Given the description of an element on the screen output the (x, y) to click on. 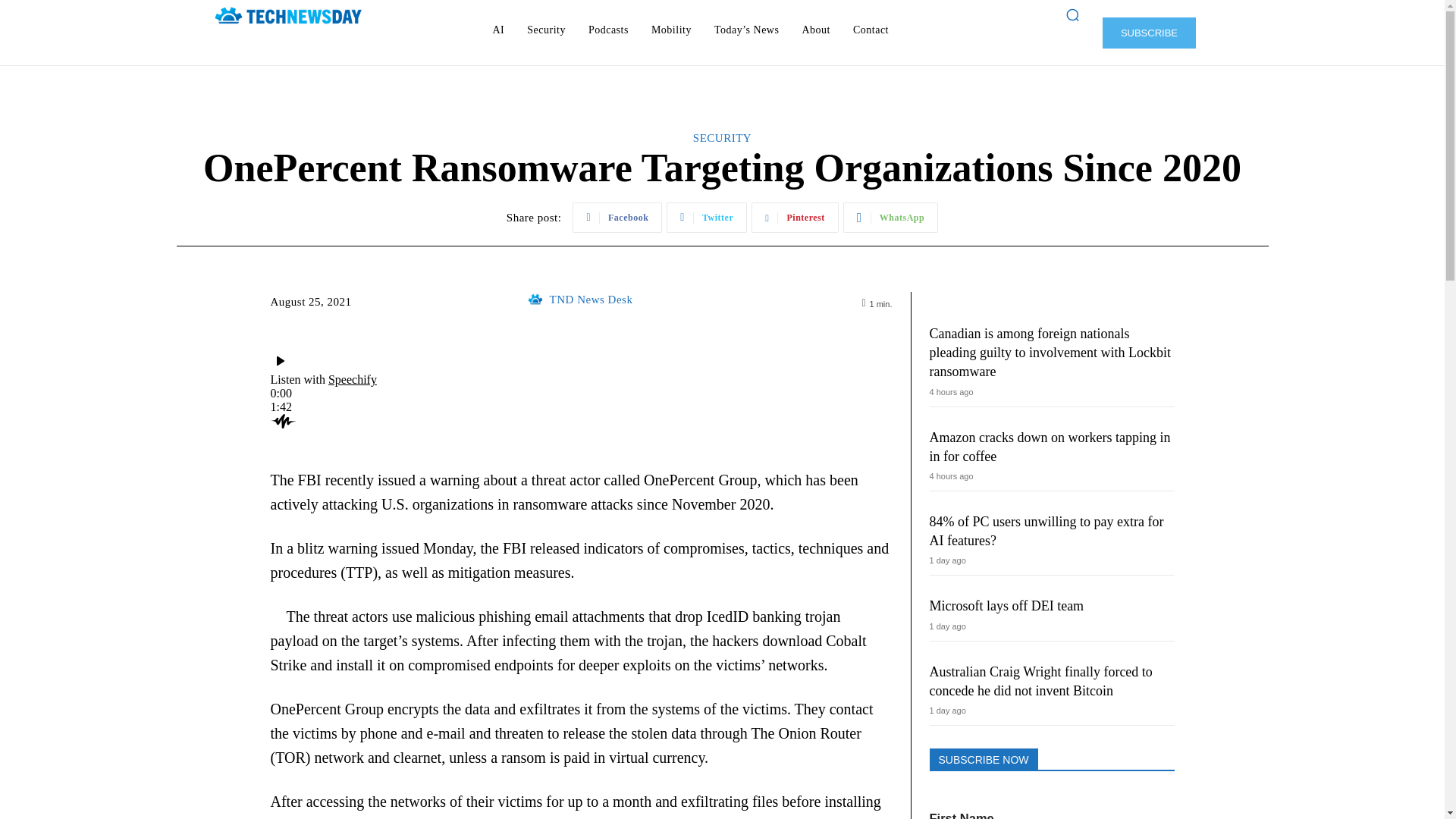
Podcasts (608, 30)
SUBSCRIBE (1148, 31)
Mobility (670, 30)
